Given the description of an element on the screen output the (x, y) to click on. 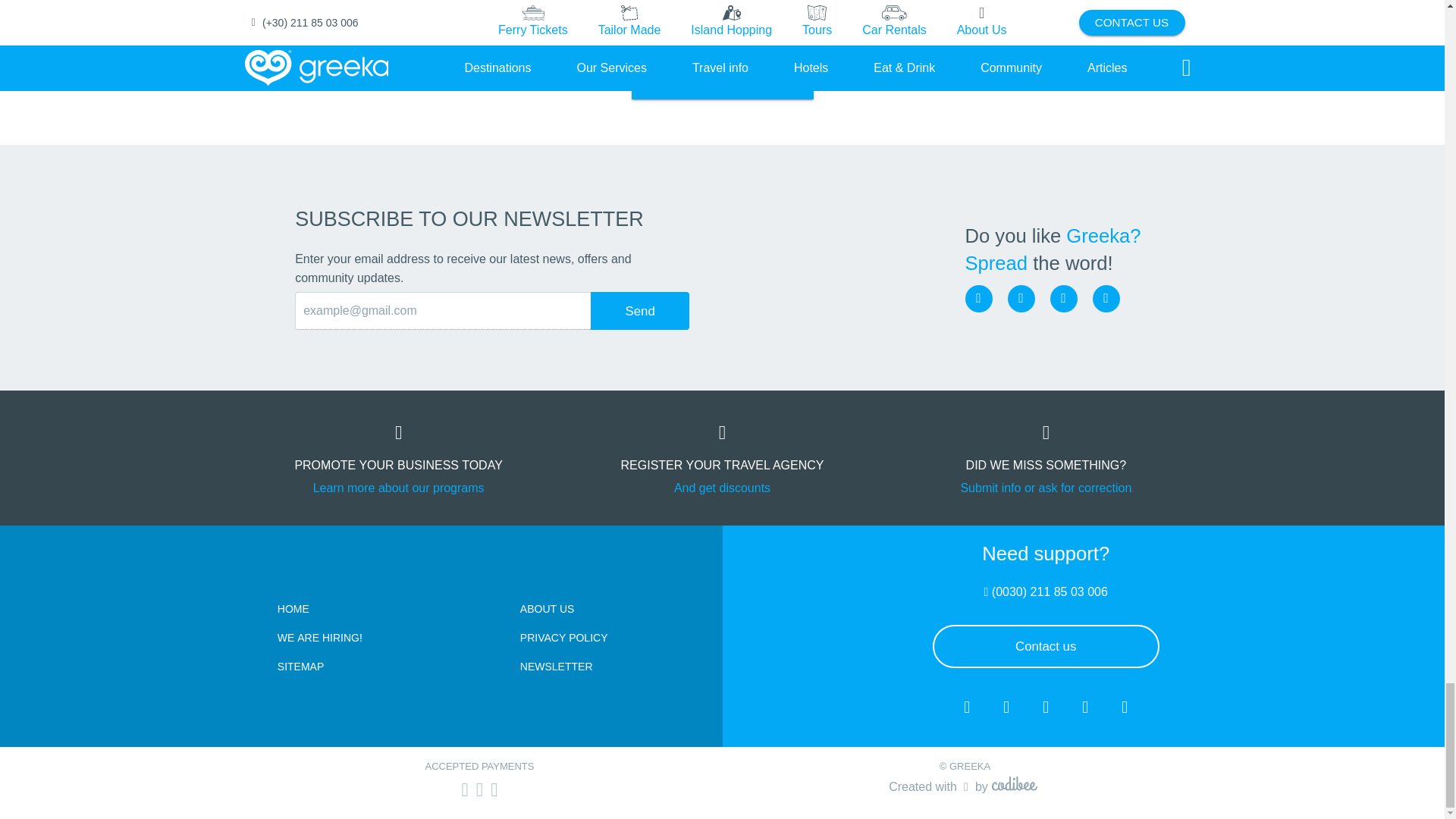
Send (639, 310)
